Given the description of an element on the screen output the (x, y) to click on. 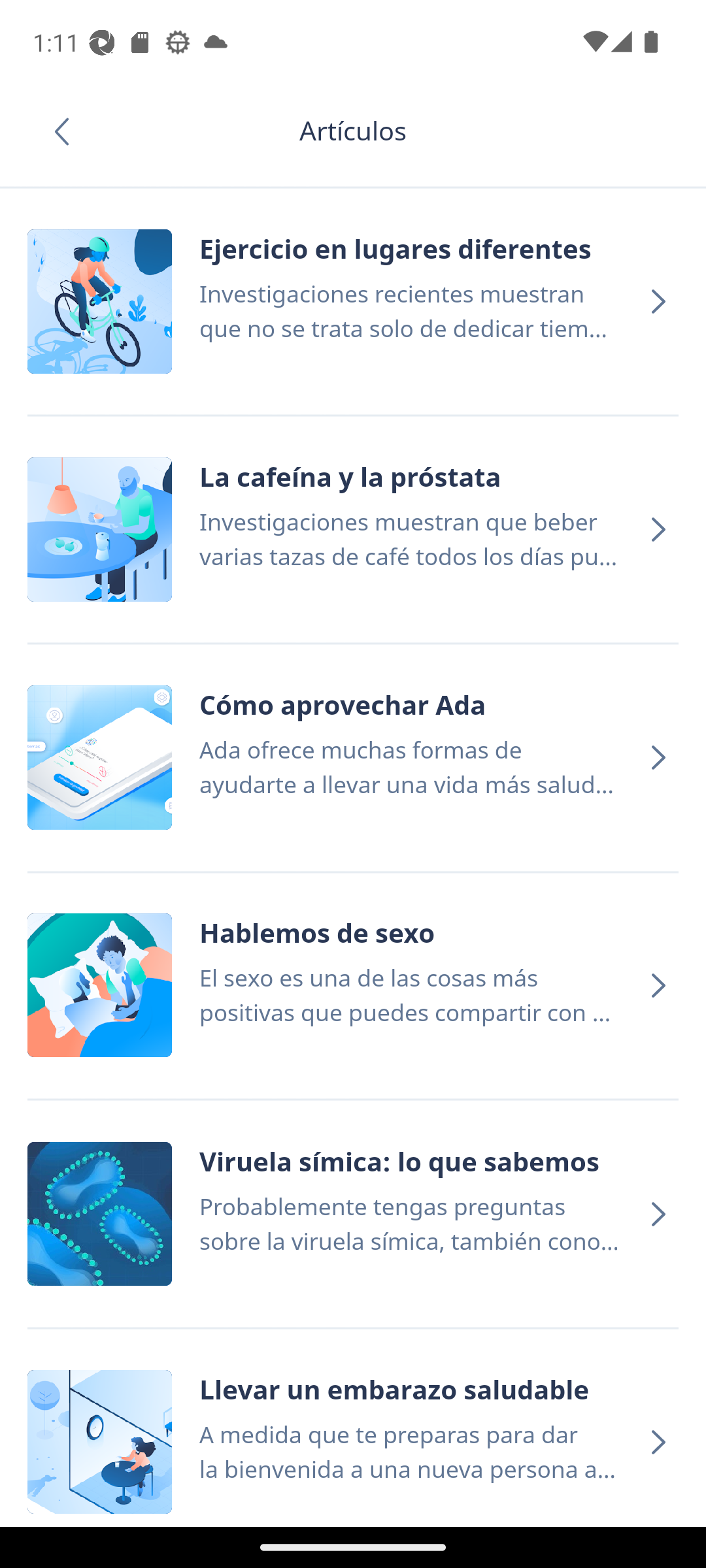
Go back, Navigates to the previous screen (68, 131)
